Given the description of an element on the screen output the (x, y) to click on. 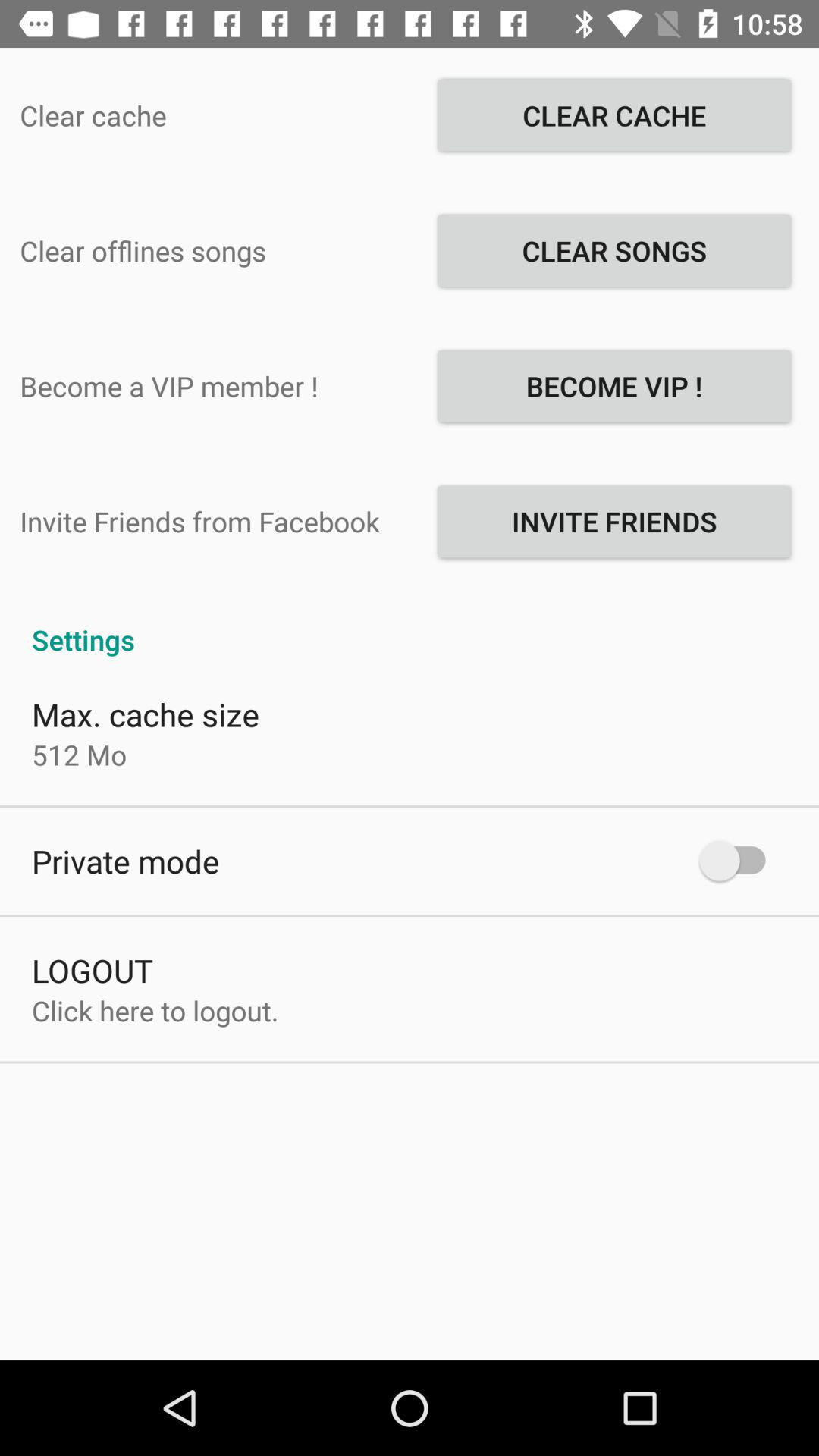
turn on the 512 mo item (78, 754)
